Given the description of an element on the screen output the (x, y) to click on. 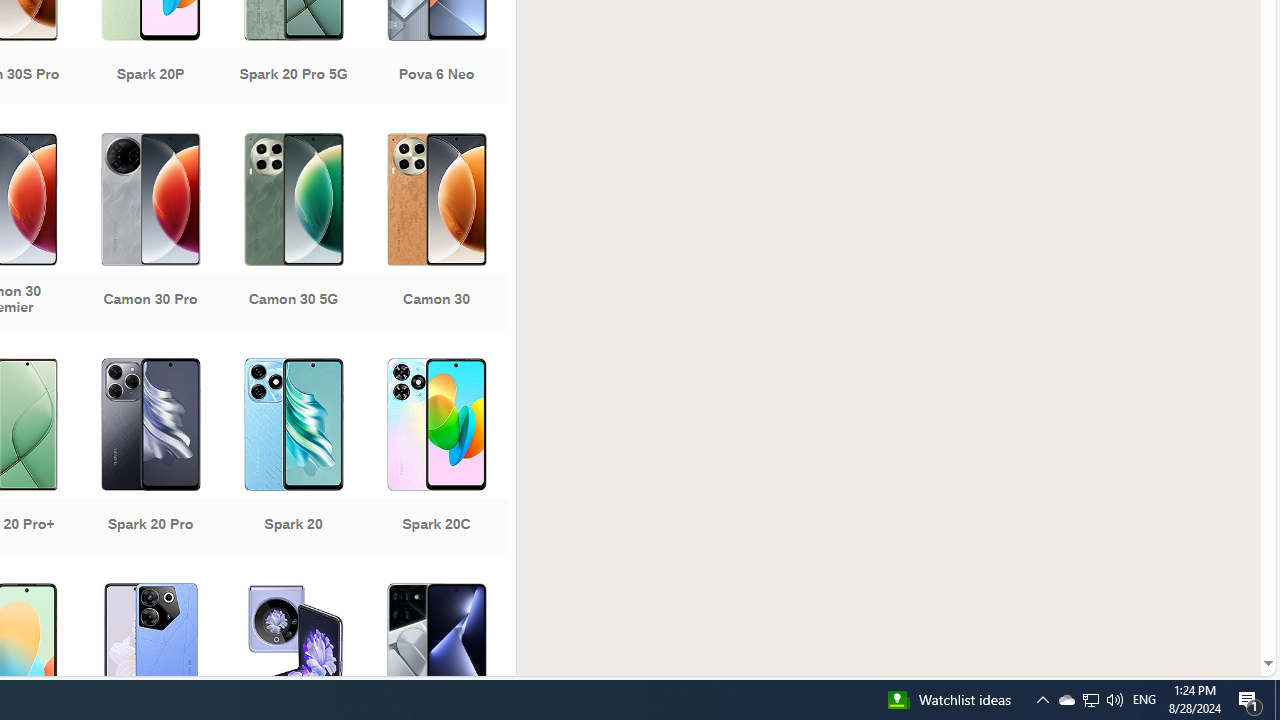
Camon 30 Pro (150, 233)
Camon 30 5G (292, 233)
Spark 20 Pro (150, 458)
Spark 20C (436, 458)
Spark 20 (292, 458)
Camon 30 (436, 233)
